Given the description of an element on the screen output the (x, y) to click on. 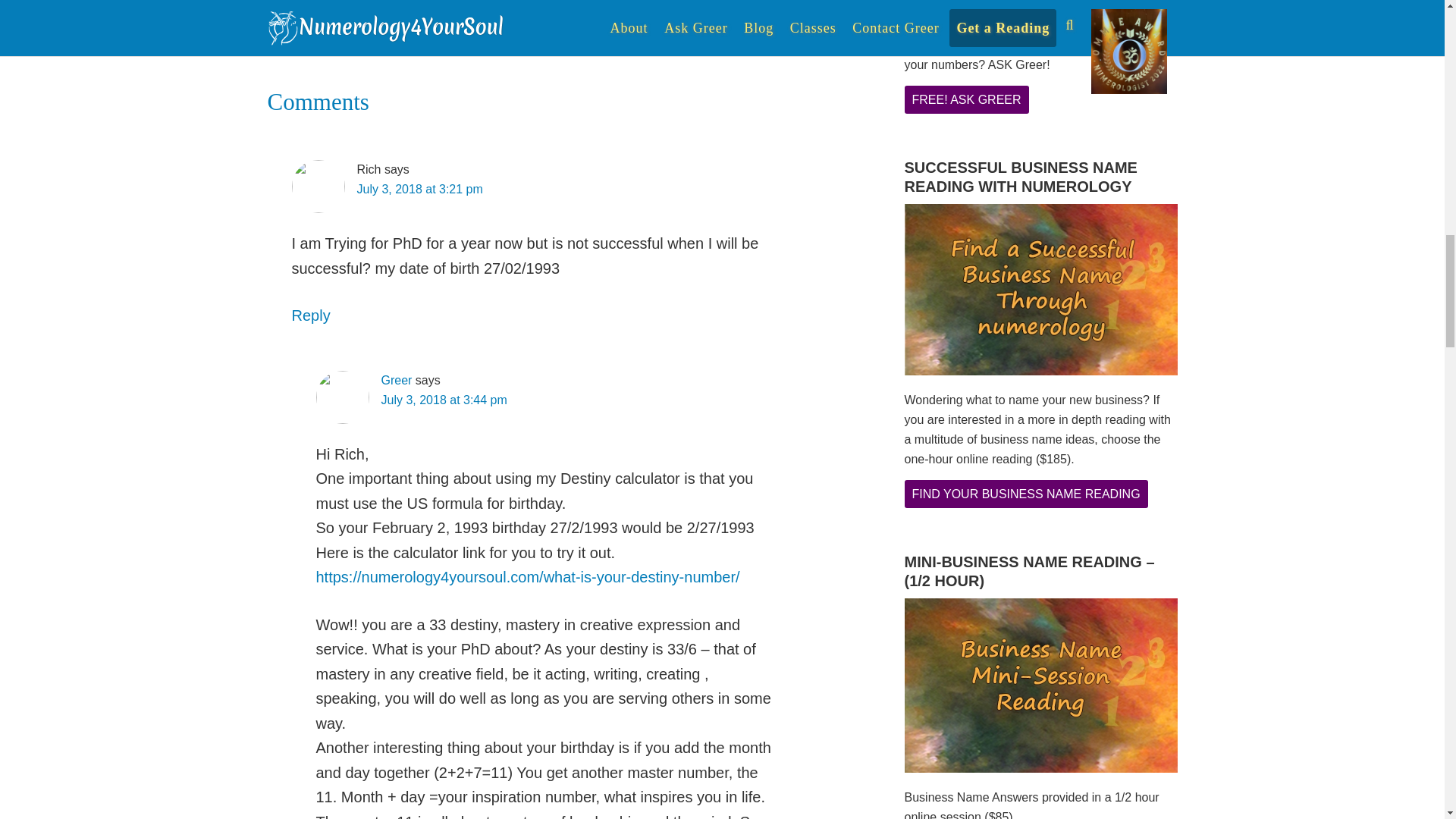
Greer (396, 379)
July 3, 2018 at 3:21 pm (418, 188)
Reply (310, 315)
July 3, 2018 at 3:44 pm (443, 399)
